Given the description of an element on the screen output the (x, y) to click on. 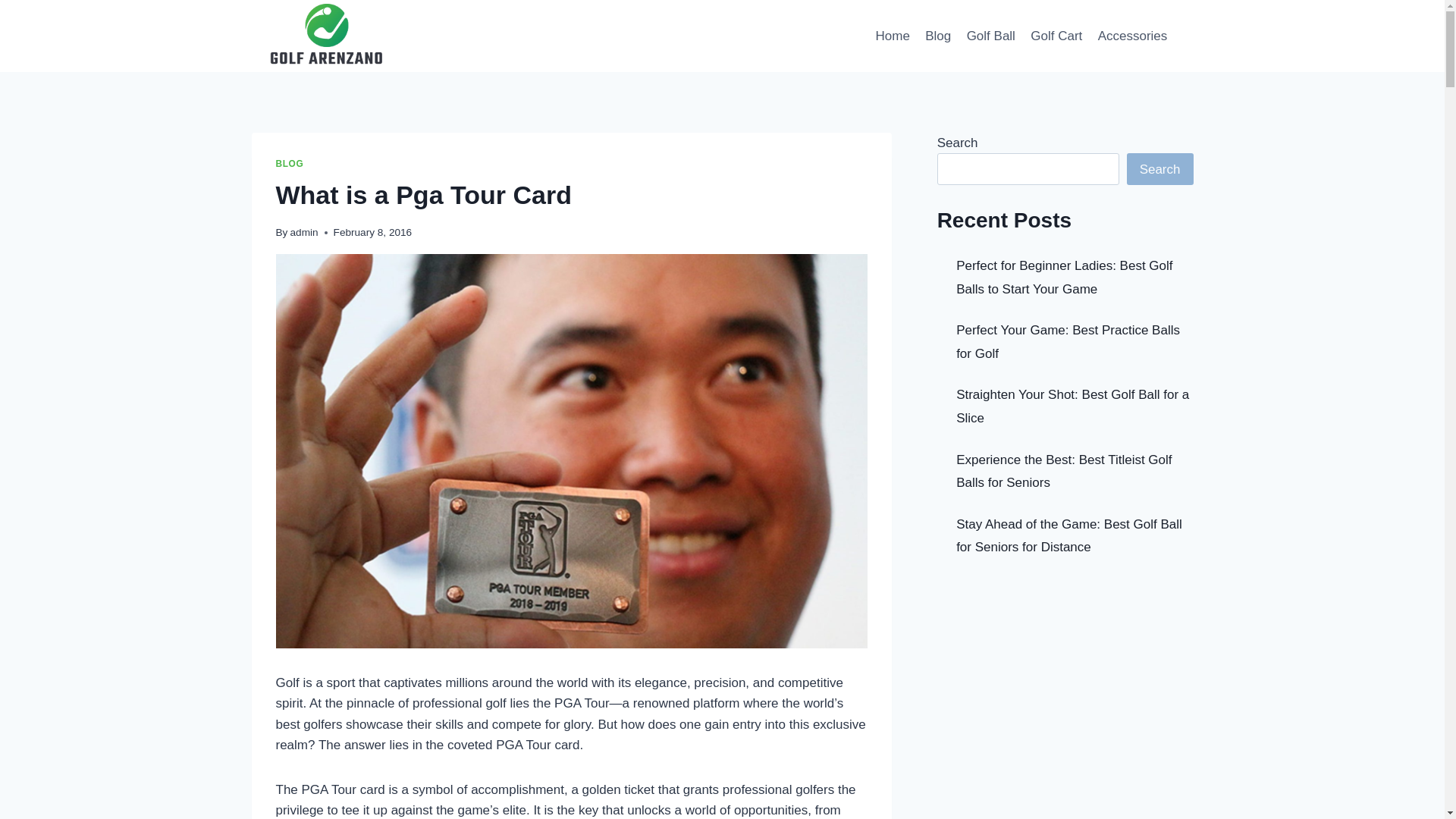
Accessories (1131, 35)
Home (892, 35)
BLOG (290, 163)
admin (303, 232)
Golf Cart (1056, 35)
Golf Ball (990, 35)
Blog (937, 35)
